Given the description of an element on the screen output the (x, y) to click on. 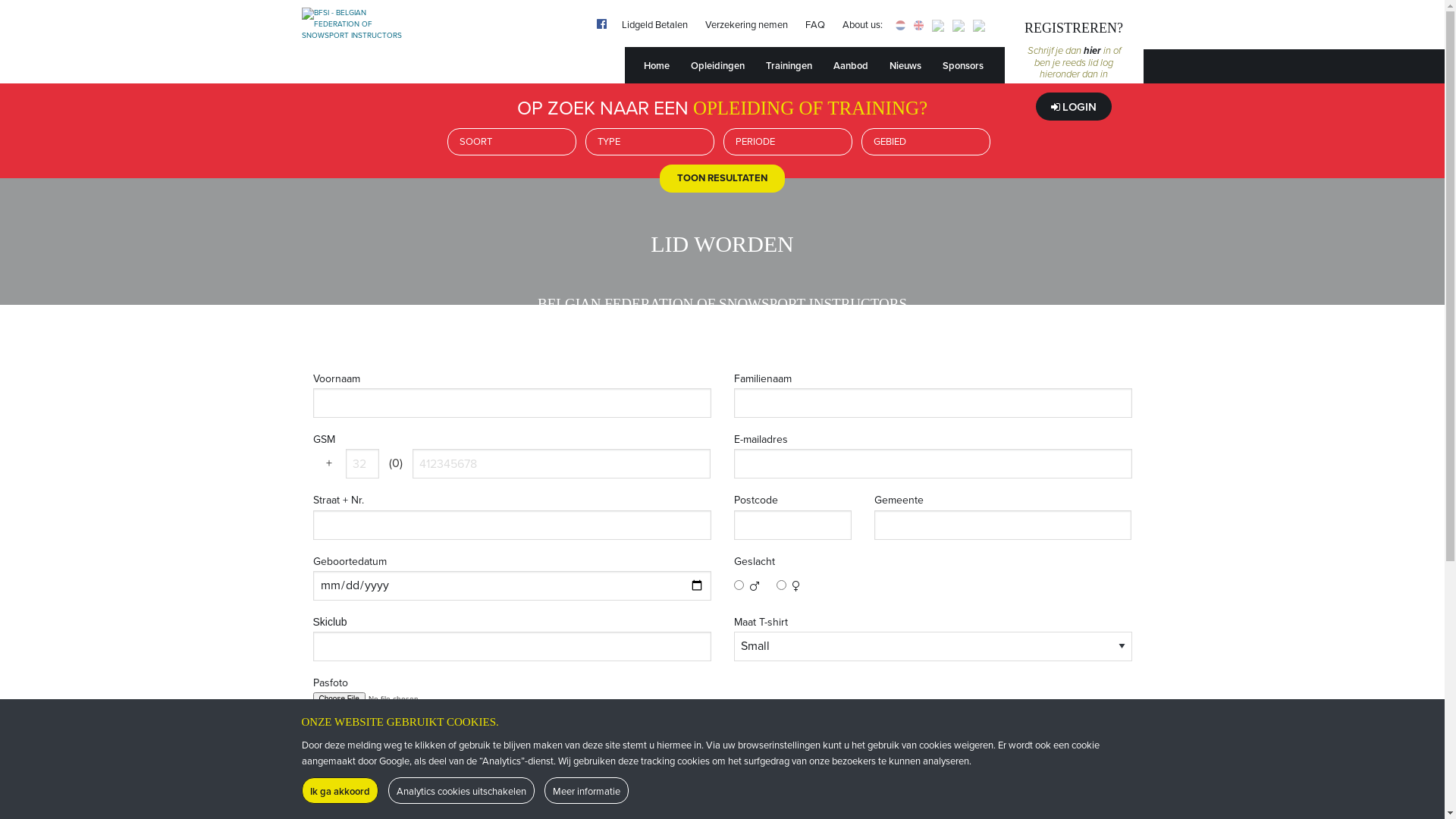
Ik ga akkoord Element type: text (339, 790)
Chi siamo Element type: hover (958, 24)
Meer informatie Element type: text (586, 790)
Opleidingen Element type: text (726, 65)
Analytics cookies uitschakelen Element type: text (461, 790)
Sponsors Element type: text (971, 65)
Home Element type: text (656, 65)
LOGIN Element type: text (1073, 106)
Trainingen Element type: text (798, 65)
Lidgeld Betalen Element type: text (654, 24)
TOON RESULTATEN Element type: text (721, 177)
REGISTREREN? Element type: text (1073, 27)
FAQ Element type: text (814, 24)
BFSI Element type: hover (355, 41)
About us Element type: hover (899, 24)
Aanbod Element type: text (859, 65)
About us Element type: hover (917, 24)
hier Element type: text (1091, 50)
Facebook Element type: hover (595, 19)
Uber uns Element type: hover (978, 24)
Nieuws Element type: text (913, 65)
Verzekering nemen Element type: text (746, 24)
OP ZOEK NAAR EEN OPLEIDING OF TRAINING? Element type: text (722, 102)
